Given the description of an element on the screen output the (x, y) to click on. 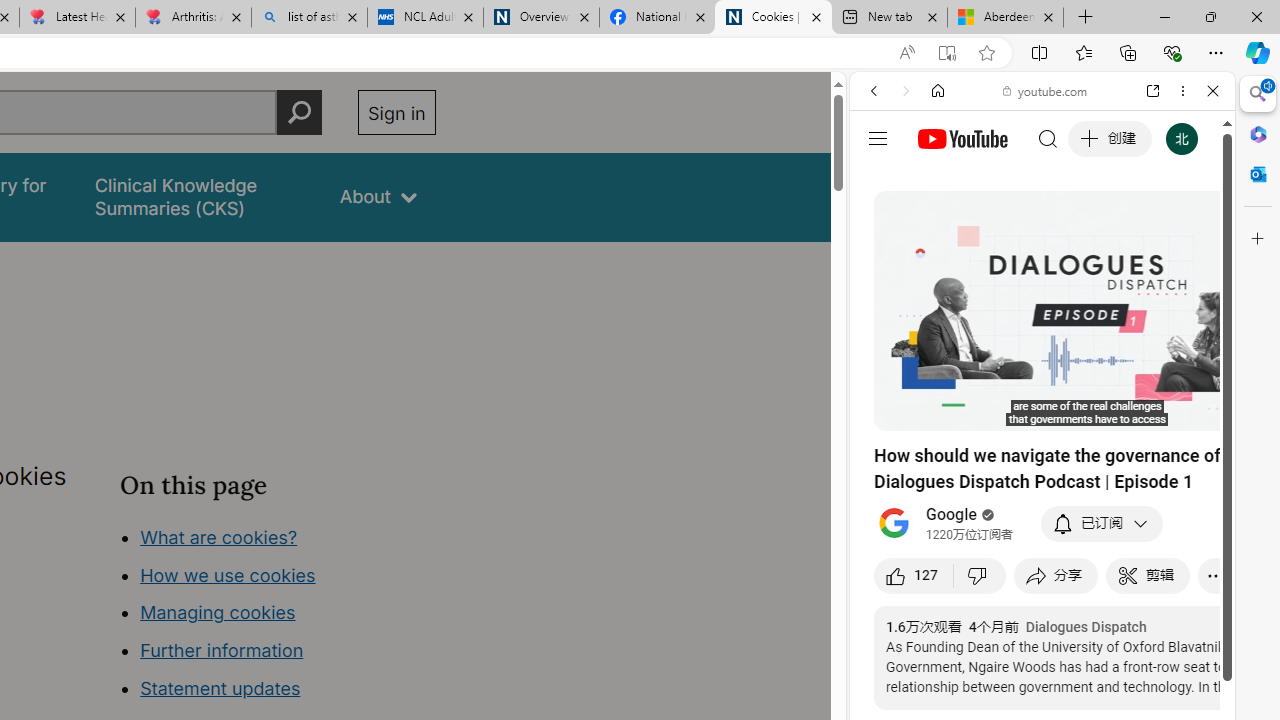
Aberdeen, Hong Kong SAR hourly forecast | Microsoft Weather (1005, 17)
Show More Music (1164, 546)
Managing cookies (217, 612)
Class: ytp-subtitles-button-icon (1127, 412)
